Given the description of an element on the screen output the (x, y) to click on. 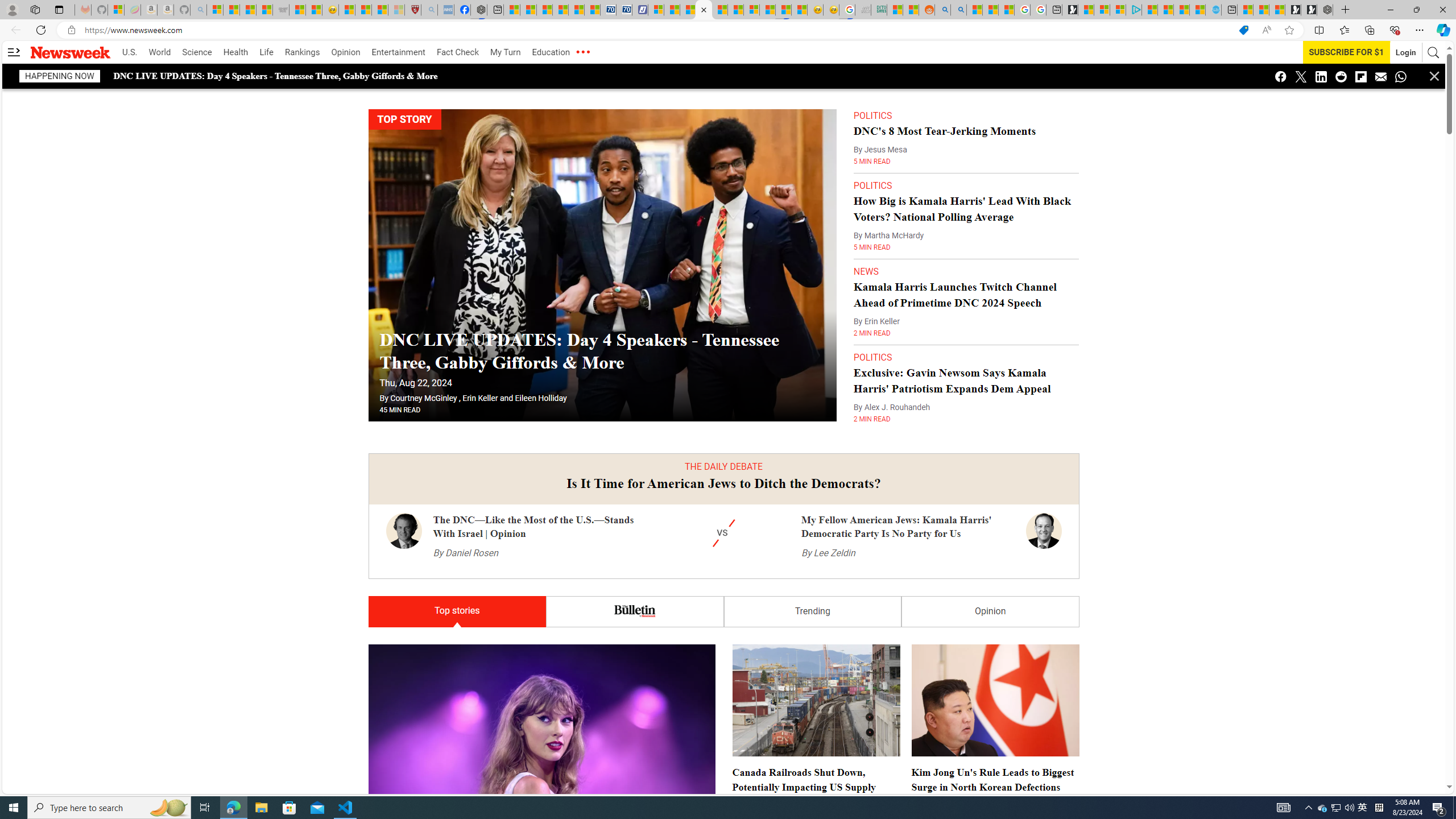
AutomationID: search-btn (1433, 51)
MSNBC - MSN (894, 9)
12 Popular Science Lies that Must be Corrected - Sleeping (395, 9)
Shopping in Microsoft Edge (1243, 29)
Science (197, 52)
Microsoft Start Gaming (1070, 9)
14 Common Myths Debunked By Scientific Facts (719, 9)
My Turn (505, 52)
Newsweek - News, Analysis, Politics, Business, Technology (703, 9)
Fact Check (457, 52)
